Given the description of an element on the screen output the (x, y) to click on. 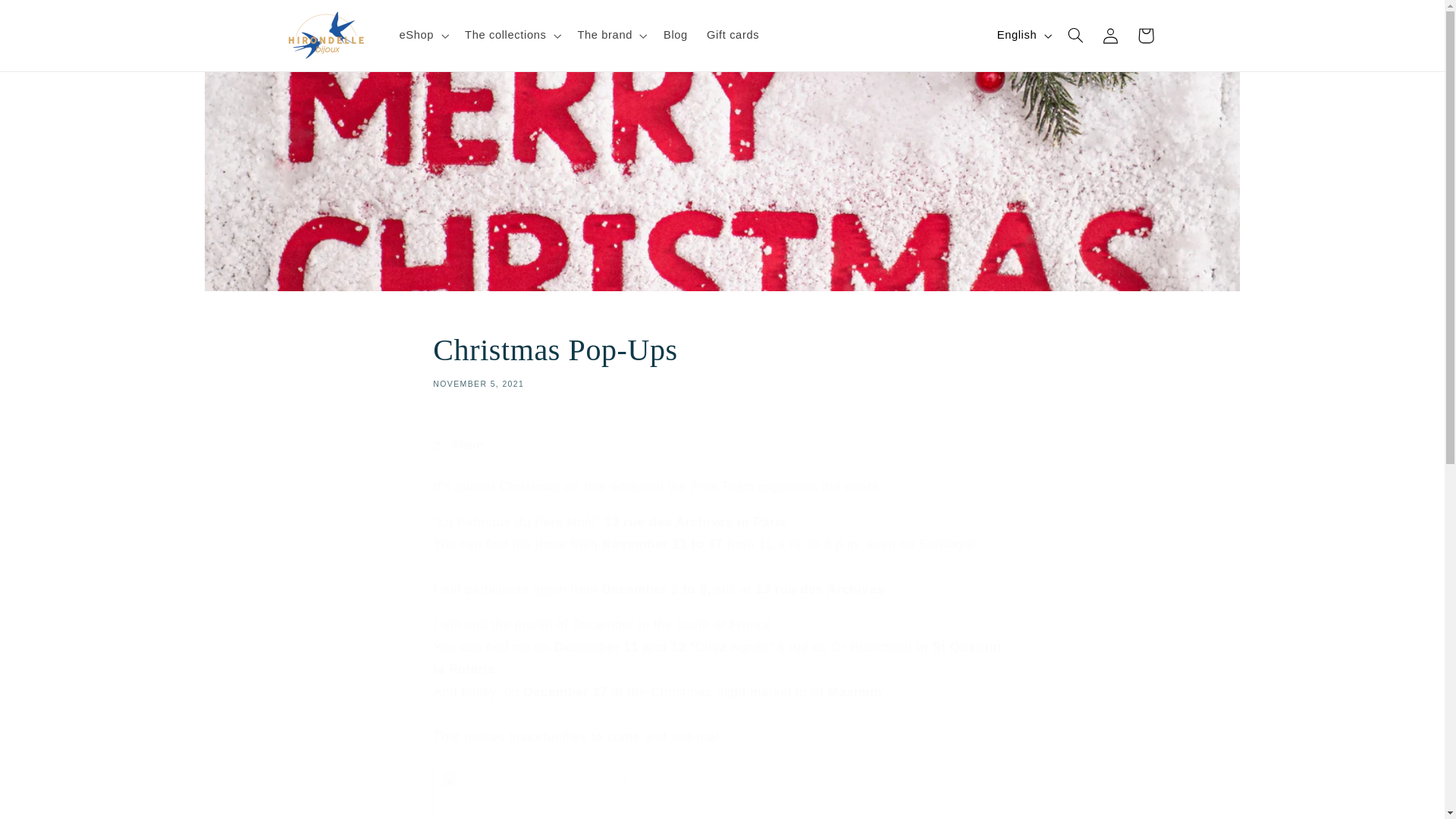
Skip to content (49, 19)
Share (721, 444)
